Given the description of an element on the screen output the (x, y) to click on. 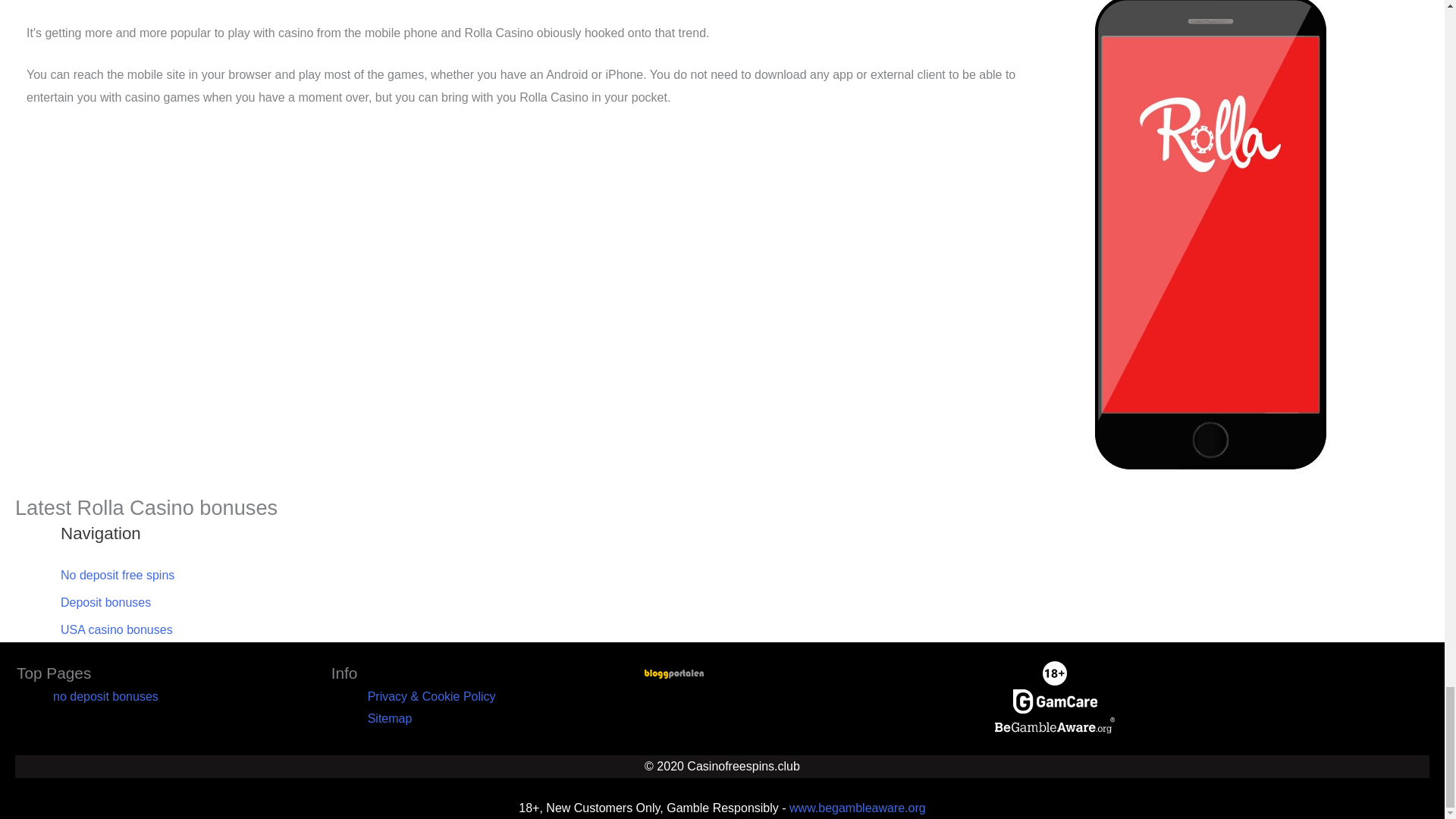
Sitemap (390, 717)
no deposit bonuses (105, 696)
www.begambleaware.org (857, 807)
No deposit free spins (117, 574)
Deposit bonuses (106, 602)
USA casino bonuses (117, 629)
